Given the description of an element on the screen output the (x, y) to click on. 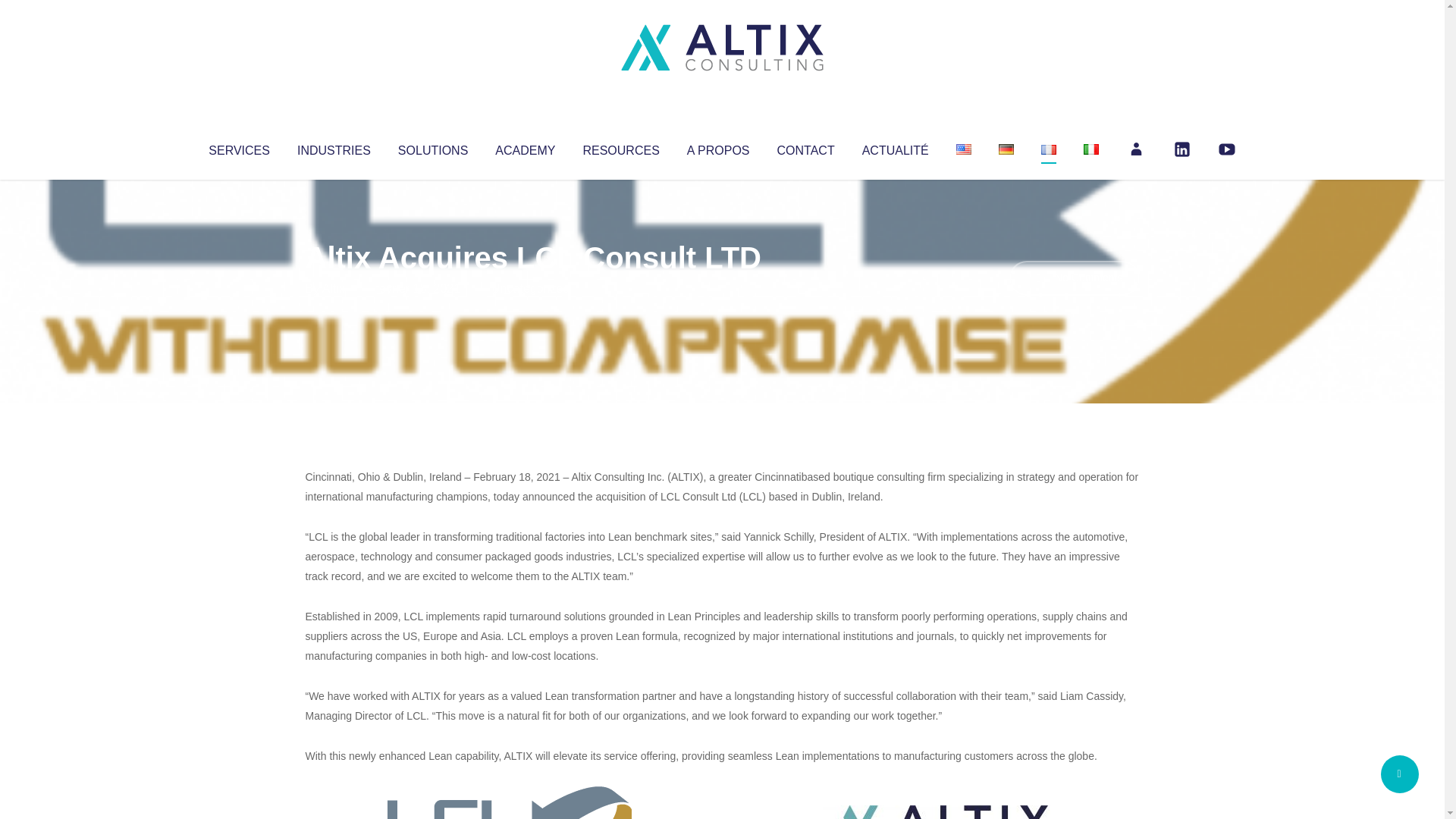
SERVICES (238, 146)
SOLUTIONS (432, 146)
ACADEMY (524, 146)
Altix (333, 287)
No Comments (1073, 278)
A PROPOS (718, 146)
Articles par Altix (333, 287)
RESOURCES (620, 146)
Uncategorized (530, 287)
INDUSTRIES (334, 146)
